Given the description of an element on the screen output the (x, y) to click on. 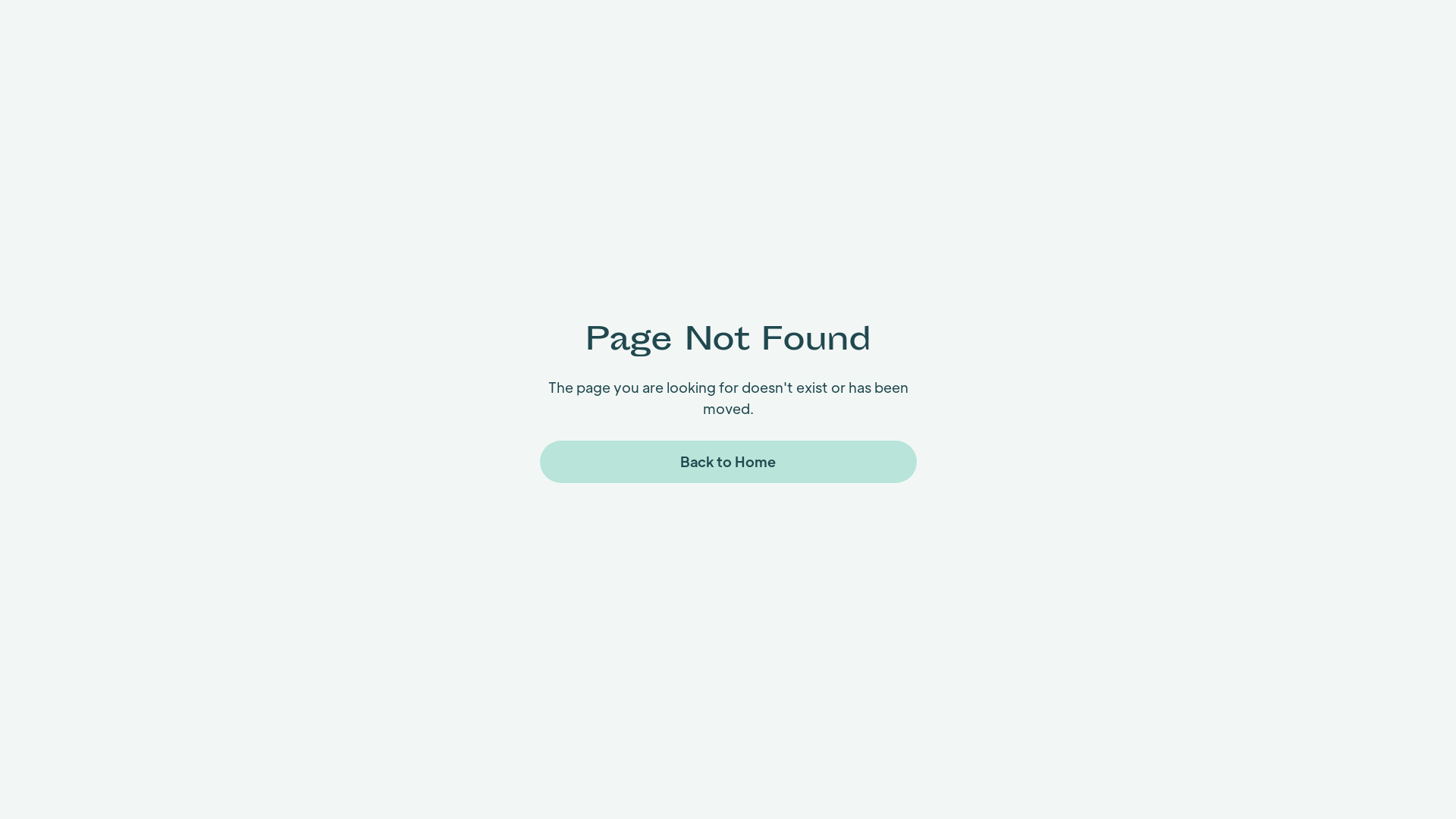
Back to Home Element type: text (727, 461)
